Given the description of an element on the screen output the (x, y) to click on. 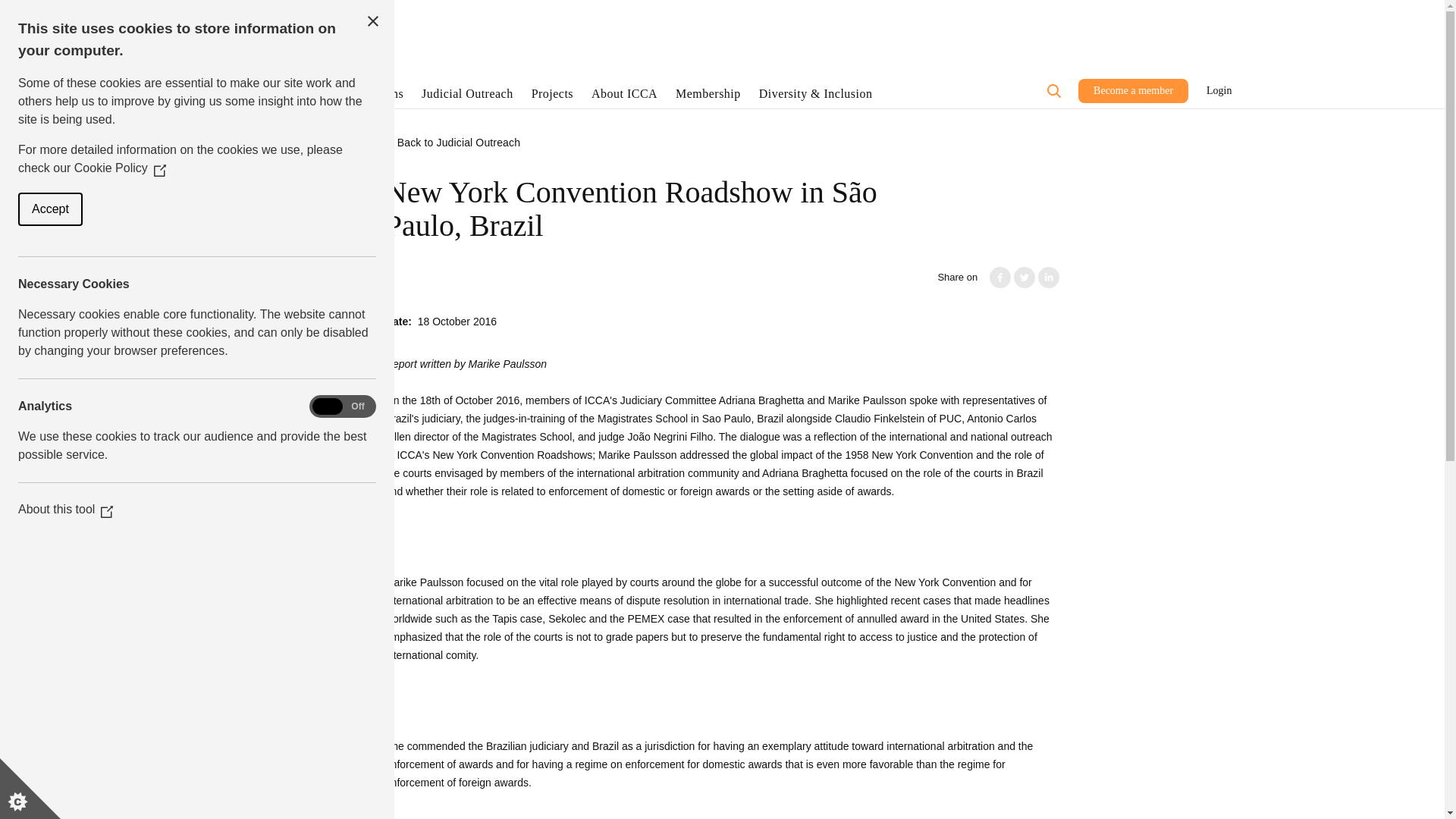
Congresses (291, 96)
Home (277, 54)
Membership (708, 96)
Become a member (1133, 90)
Judicial Outreach (467, 96)
Young ICCA (303, 10)
Publications (371, 96)
Facebook (1000, 277)
Twitter (1024, 277)
